Given the description of an element on the screen output the (x, y) to click on. 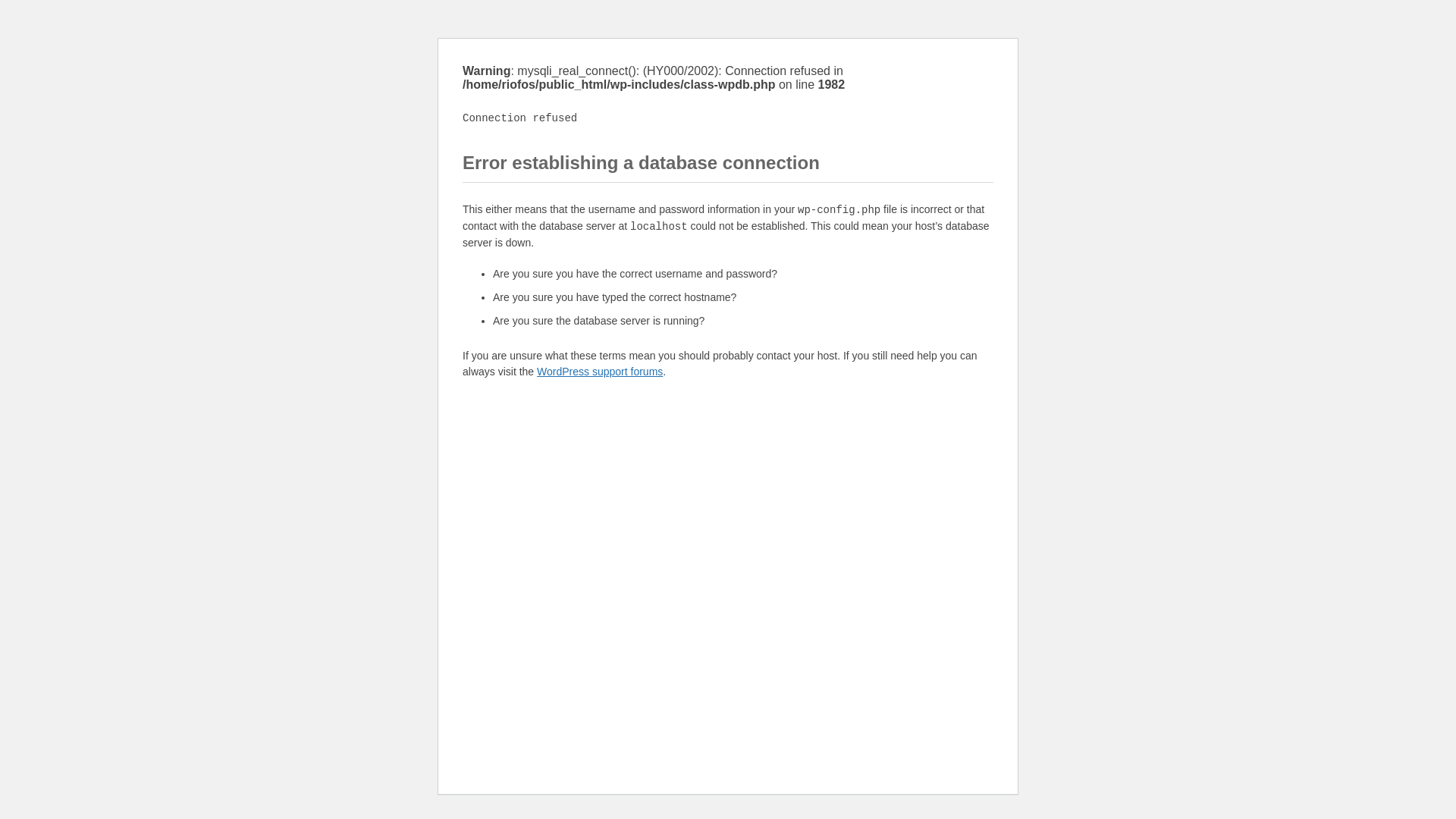
WordPress support forums (599, 371)
